Given the description of an element on the screen output the (x, y) to click on. 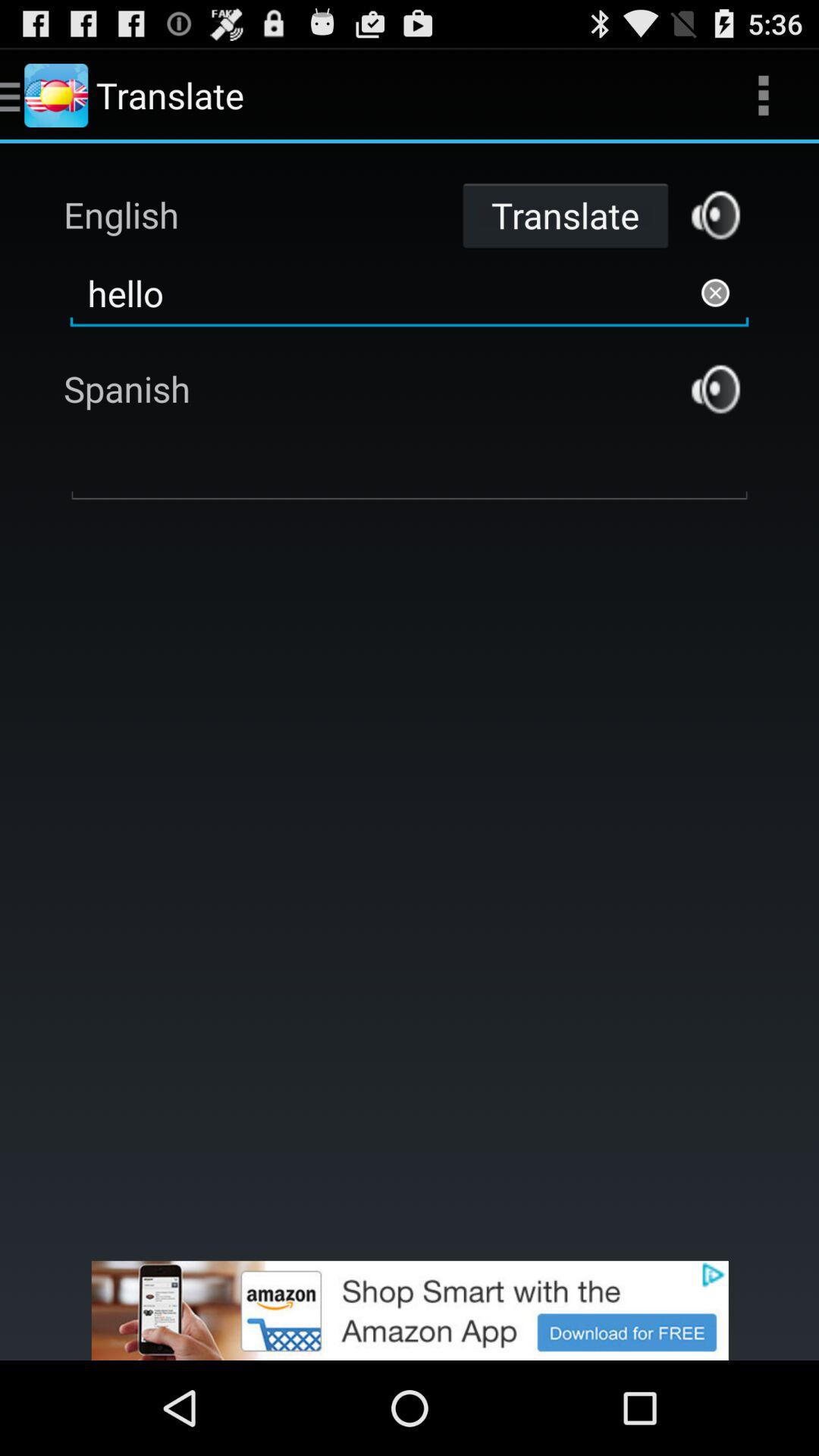
input word to translate (409, 467)
